Given the description of an element on the screen output the (x, y) to click on. 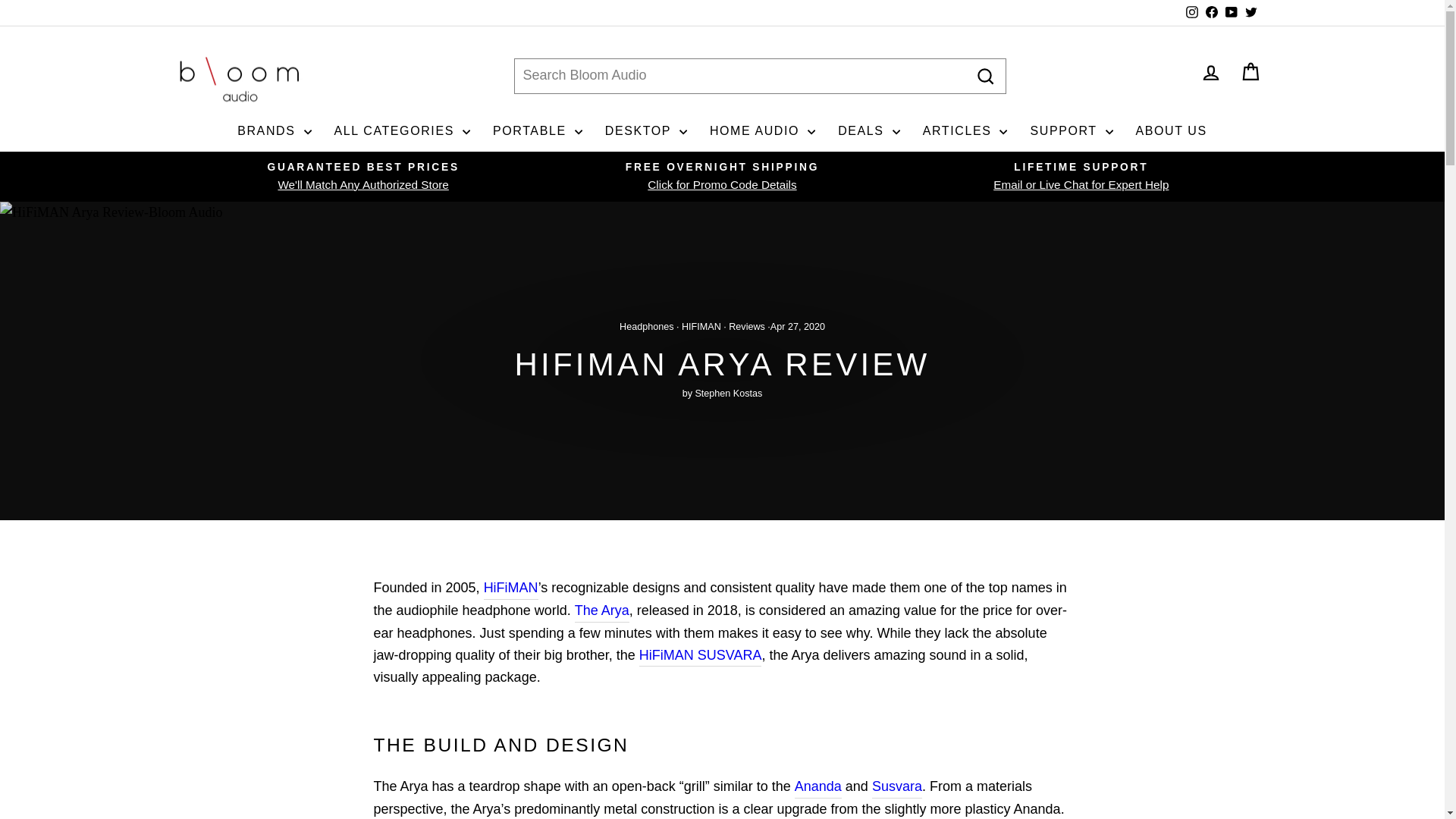
twitter (1250, 11)
instagram (1192, 11)
HiFiMAN Headphones (510, 588)
HiFiMAN Arya (601, 610)
ACCOUNT (1210, 72)
